Given the description of an element on the screen output the (x, y) to click on. 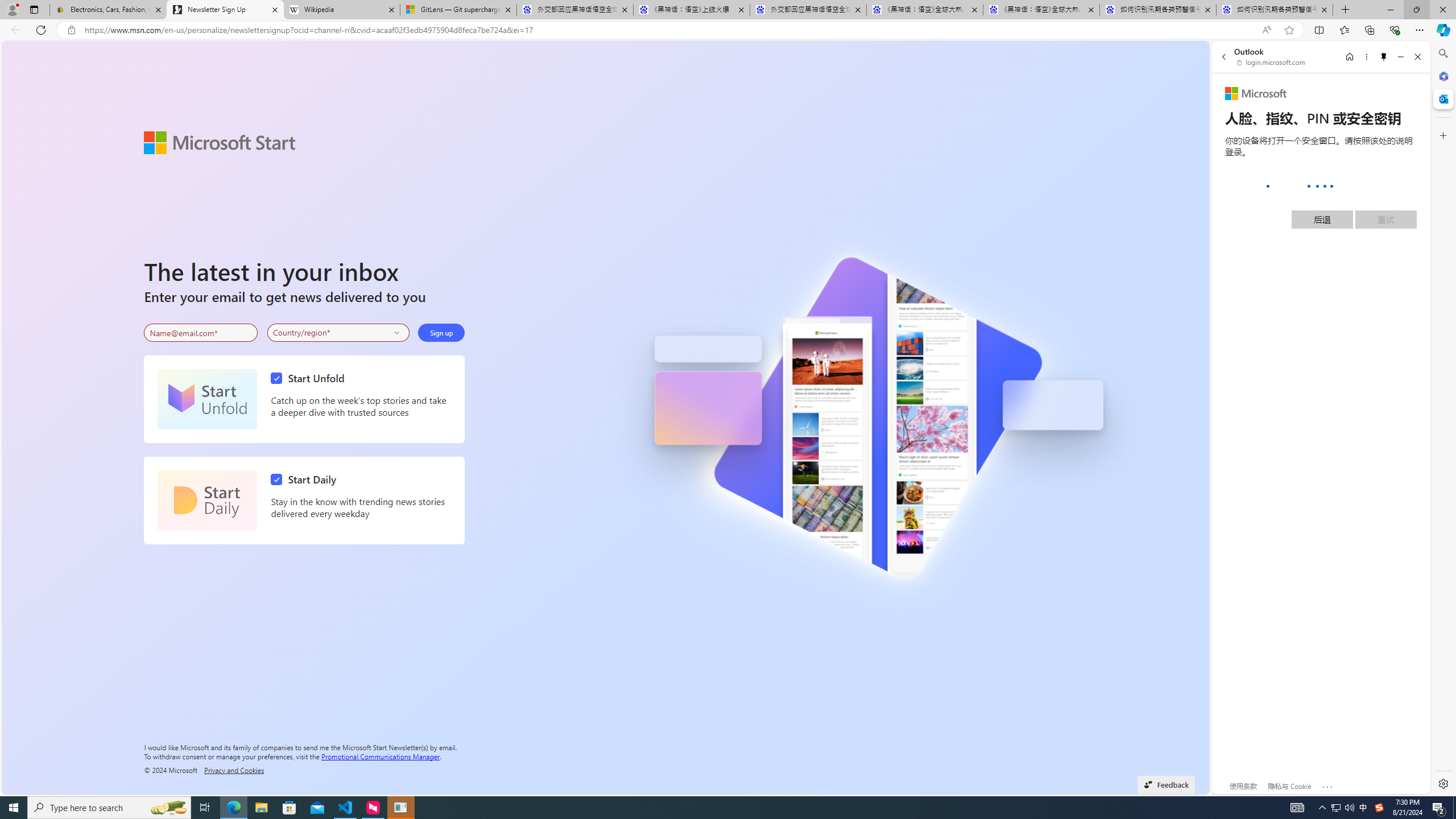
Start Daily (306, 479)
Start Unfold (310, 378)
Unpin side pane (1383, 56)
